Given the description of an element on the screen output the (x, y) to click on. 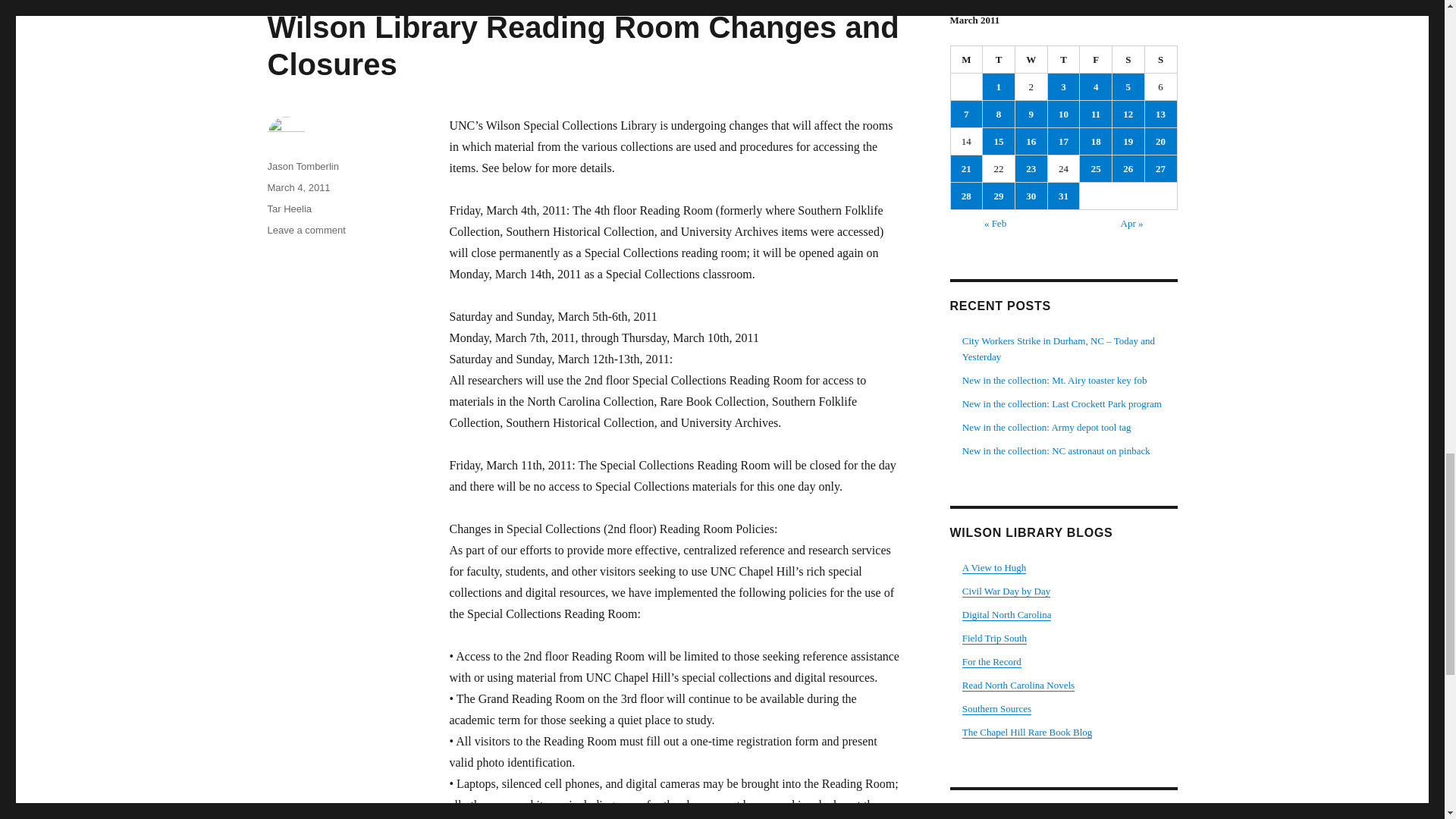
Wilson Library Reading Room Changes and Closures (582, 45)
Thursday (1064, 59)
Saturday (1128, 59)
Wednesday (1031, 59)
Monday (967, 59)
Highlights from the North Carolina Digital Heritage Center (1006, 614)
Jason Tomberlin (301, 165)
March 4, 2011 (298, 187)
Sunday (1160, 59)
A guide to recent fiction set in North Carolina (1018, 685)
 Exploring the Southern Folklife Collection (994, 637)
Friday (1096, 59)
Tar Heelia (288, 208)
 Processing the Hugh Morton Photographs and Films (994, 567)
Exploring the Southern Historical Collection (996, 708)
